Given the description of an element on the screen output the (x, y) to click on. 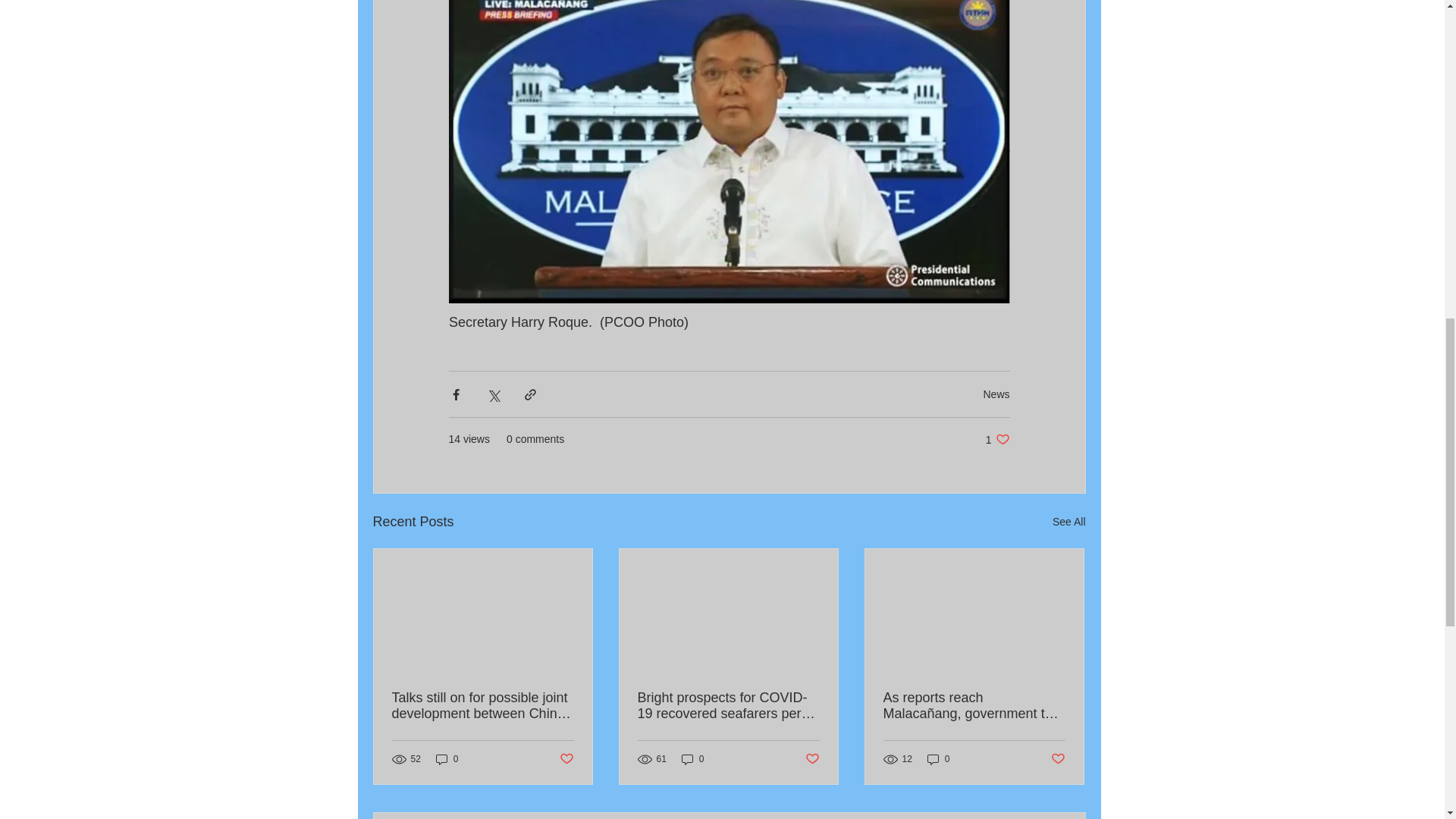
News (995, 394)
0 (692, 759)
Post not marked as liked (566, 759)
0 (939, 759)
See All (1069, 522)
Post not marked as liked (812, 759)
Post not marked as liked (1058, 759)
0 (997, 439)
